Given the description of an element on the screen output the (x, y) to click on. 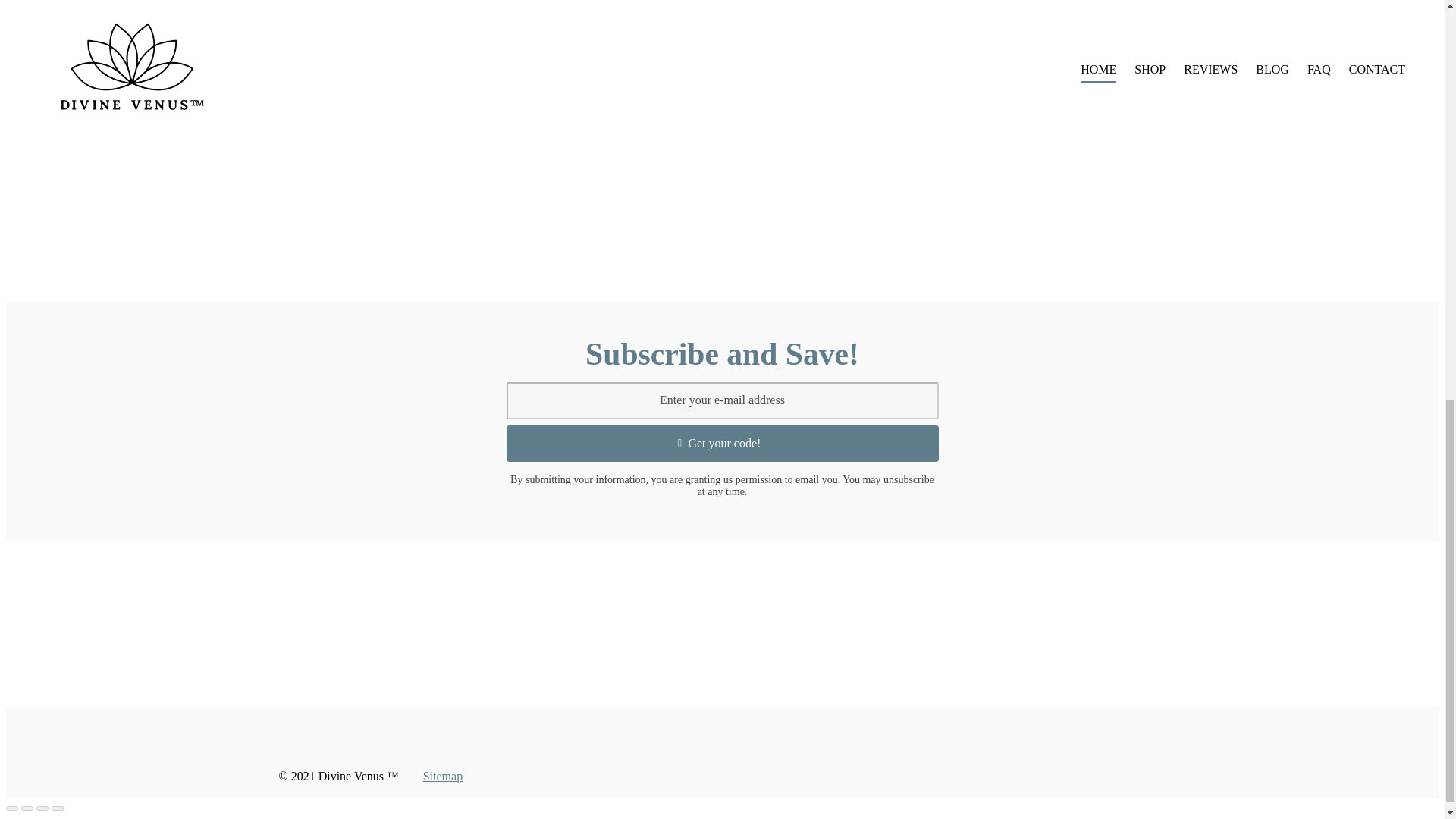
Share (27, 807)
Toggle fullscreen (42, 807)
Get your code! (722, 443)
Sitemap (443, 775)
